Given the description of an element on the screen output the (x, y) to click on. 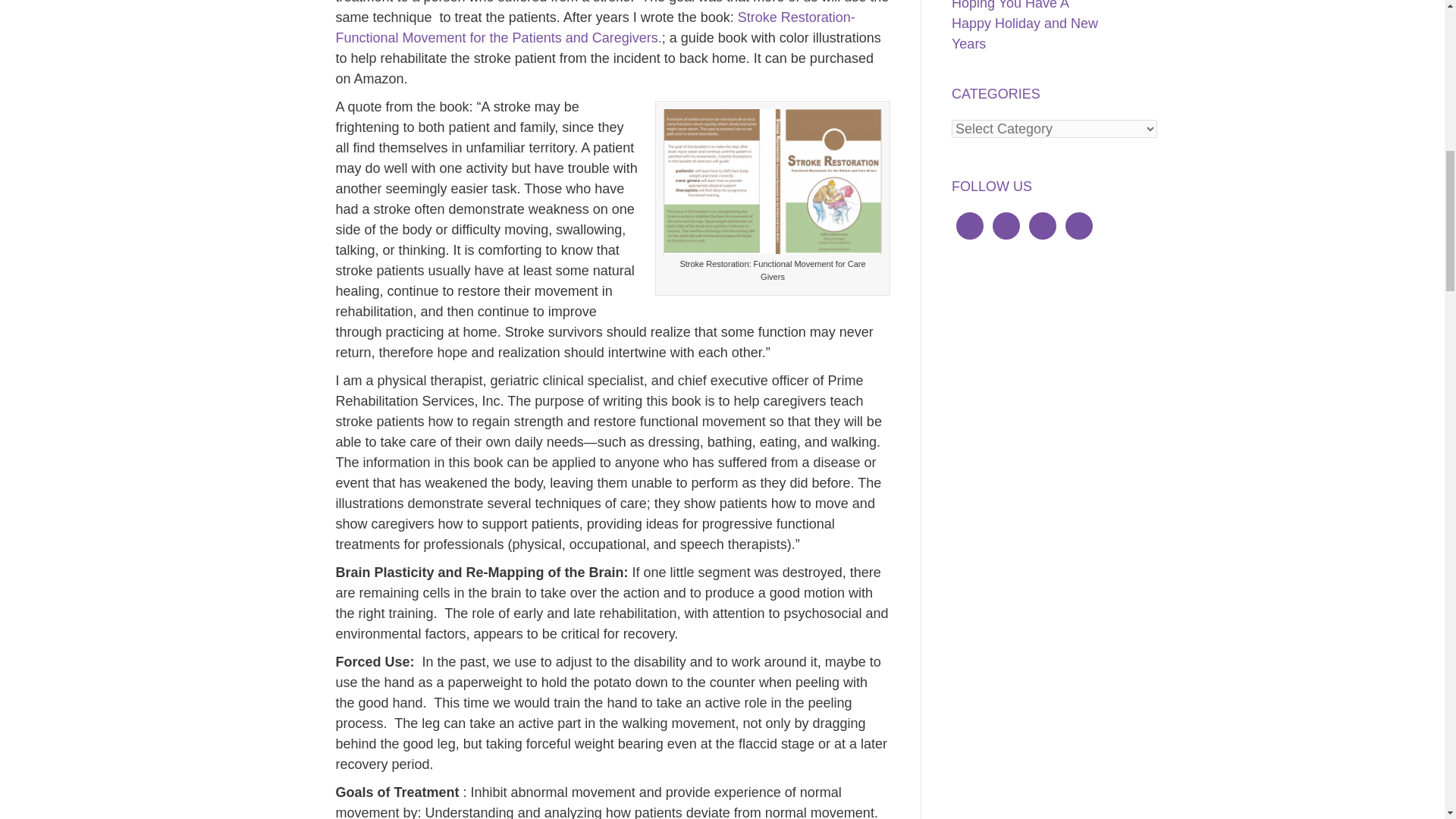
Hoping You Have A Happy Holiday and New Years (1024, 25)
